Given the description of an element on the screen output the (x, y) to click on. 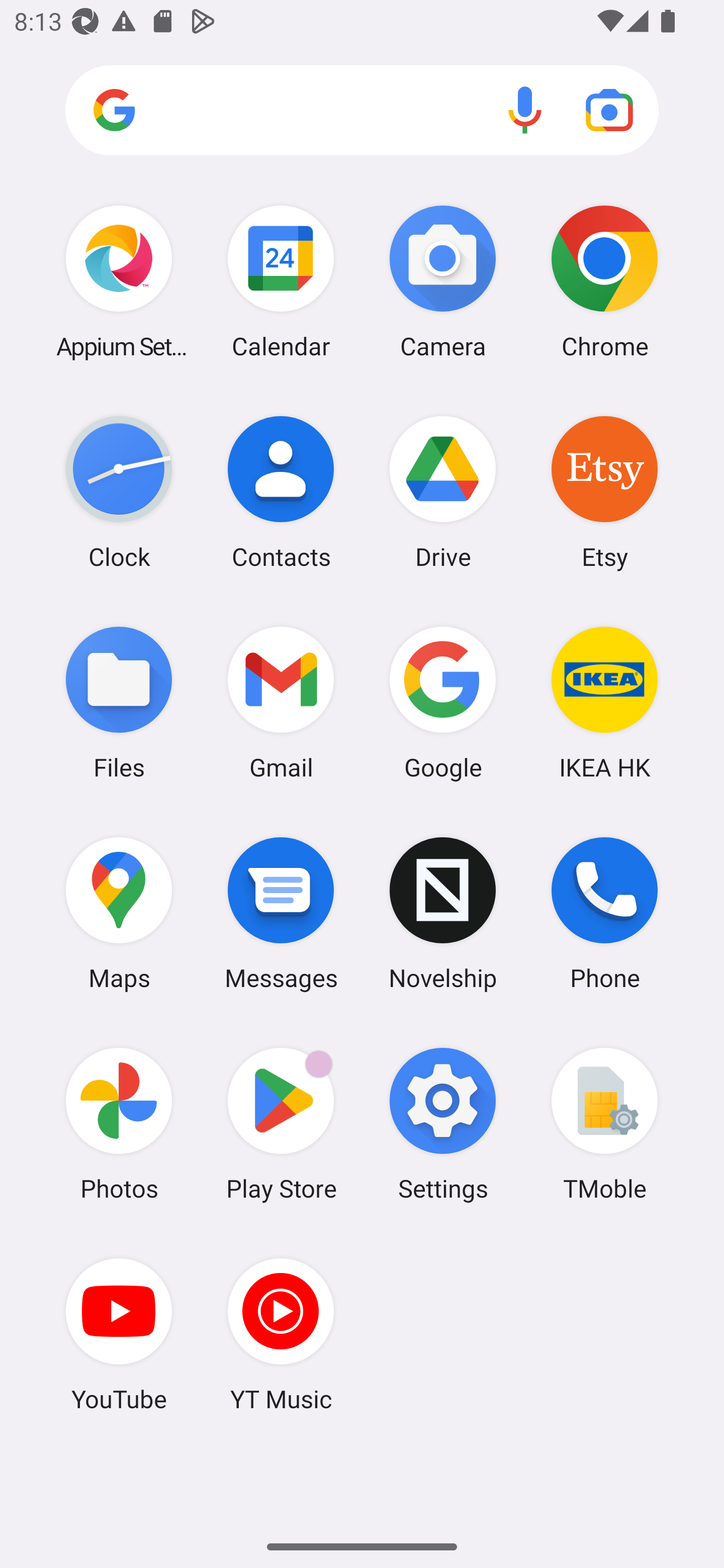
Search apps, web and more (361, 110)
Voice search (524, 109)
Google Lens (608, 109)
Appium Settings (118, 281)
Calendar (280, 281)
Camera (443, 281)
Chrome (604, 281)
Clock (118, 492)
Contacts (280, 492)
Drive (443, 492)
Etsy (604, 492)
Files (118, 702)
Gmail (280, 702)
Google (443, 702)
IKEA HK (604, 702)
Maps (118, 913)
Messages (280, 913)
Novelship (443, 913)
Phone (604, 913)
Photos (118, 1124)
Play Store Play Store has 1 notification (280, 1124)
Settings (443, 1124)
TMoble (604, 1124)
YouTube (118, 1334)
YT Music (280, 1334)
